Given the description of an element on the screen output the (x, y) to click on. 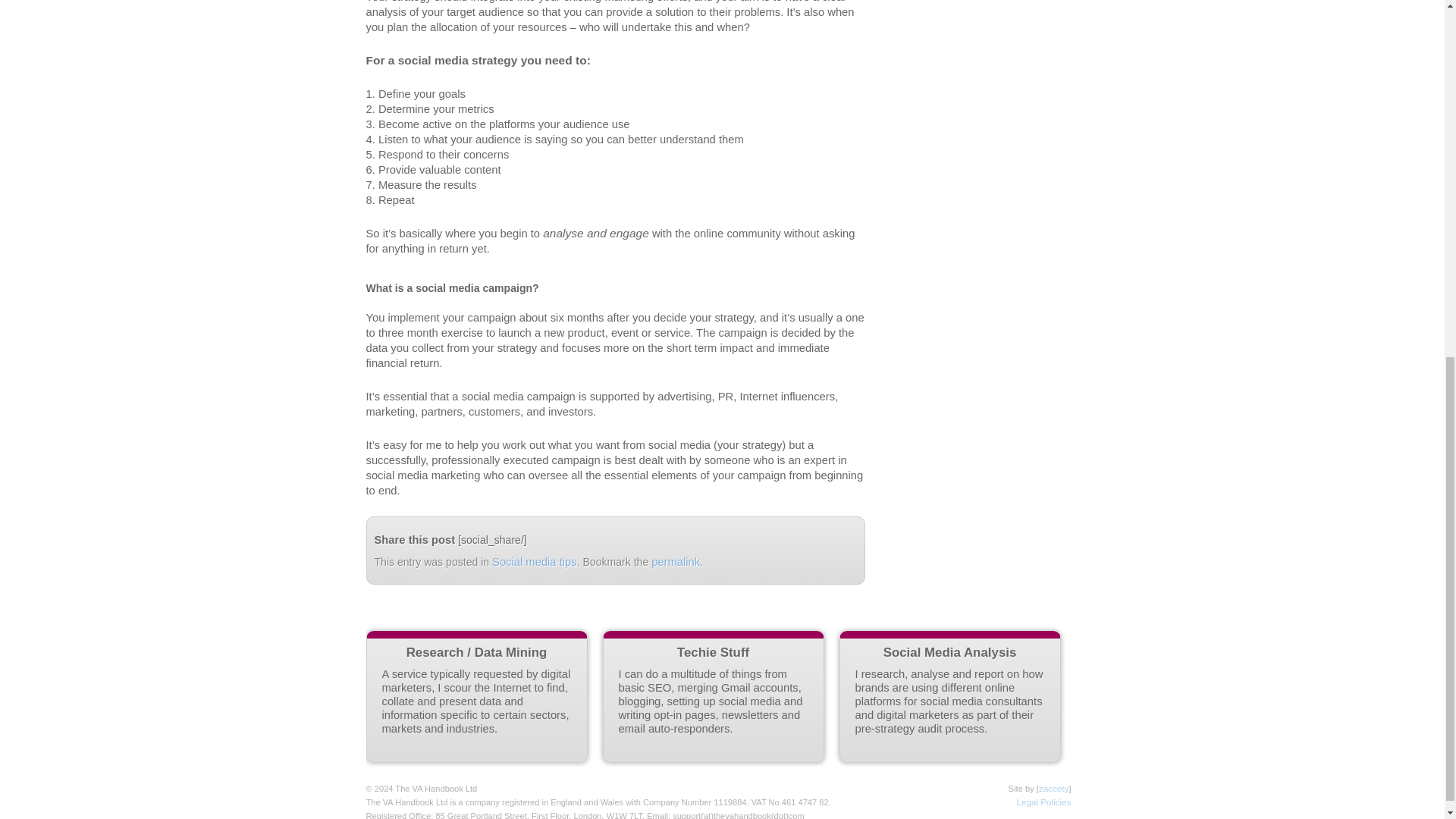
Legal Policies (1043, 801)
Zaccety.com (1053, 787)
Social media tips (534, 562)
permalink (675, 562)
zaccety (1053, 787)
